Given the description of an element on the screen output the (x, y) to click on. 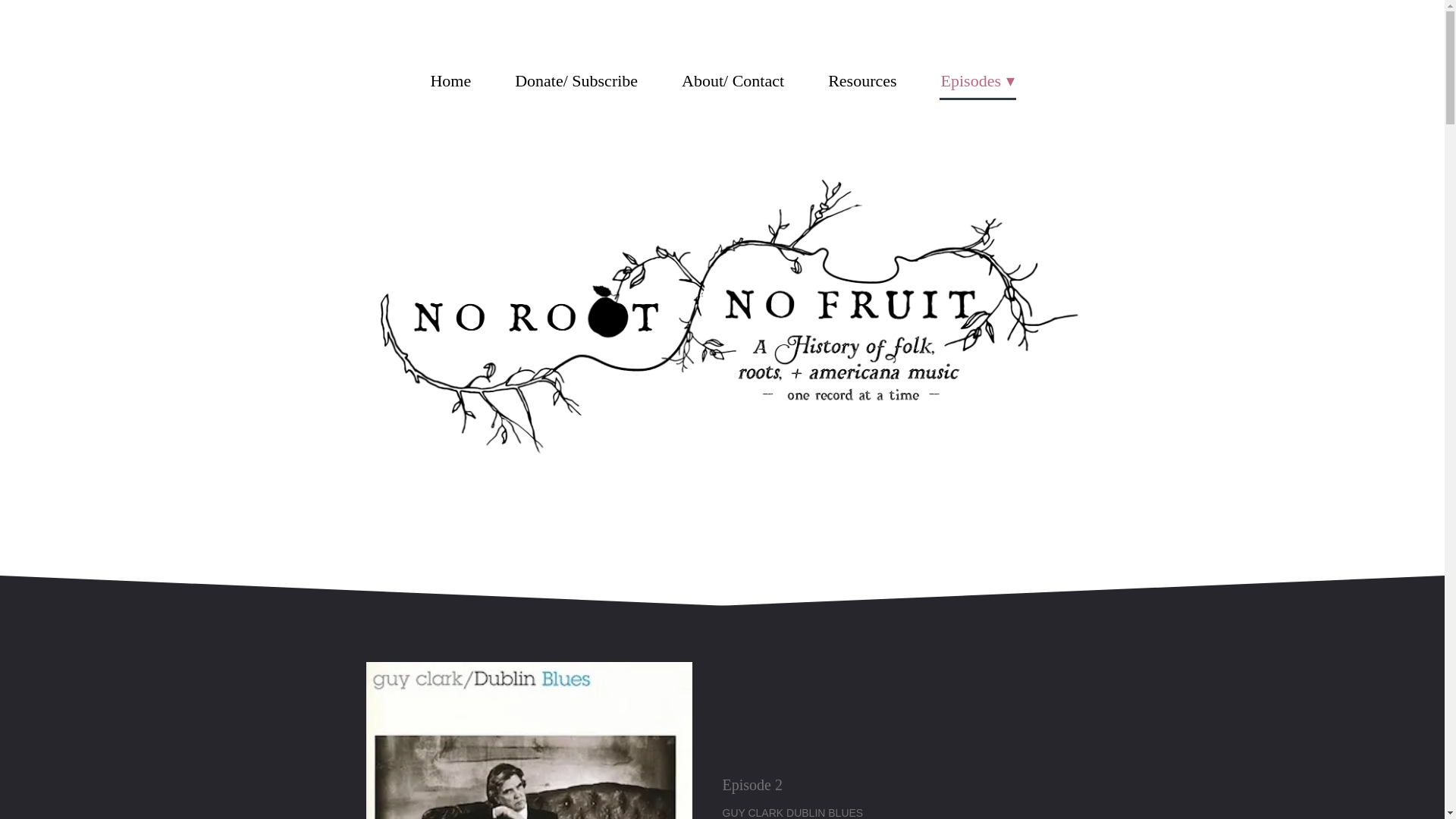
Episodes (977, 81)
Resources (862, 80)
Home (449, 80)
